Given the description of an element on the screen output the (x, y) to click on. 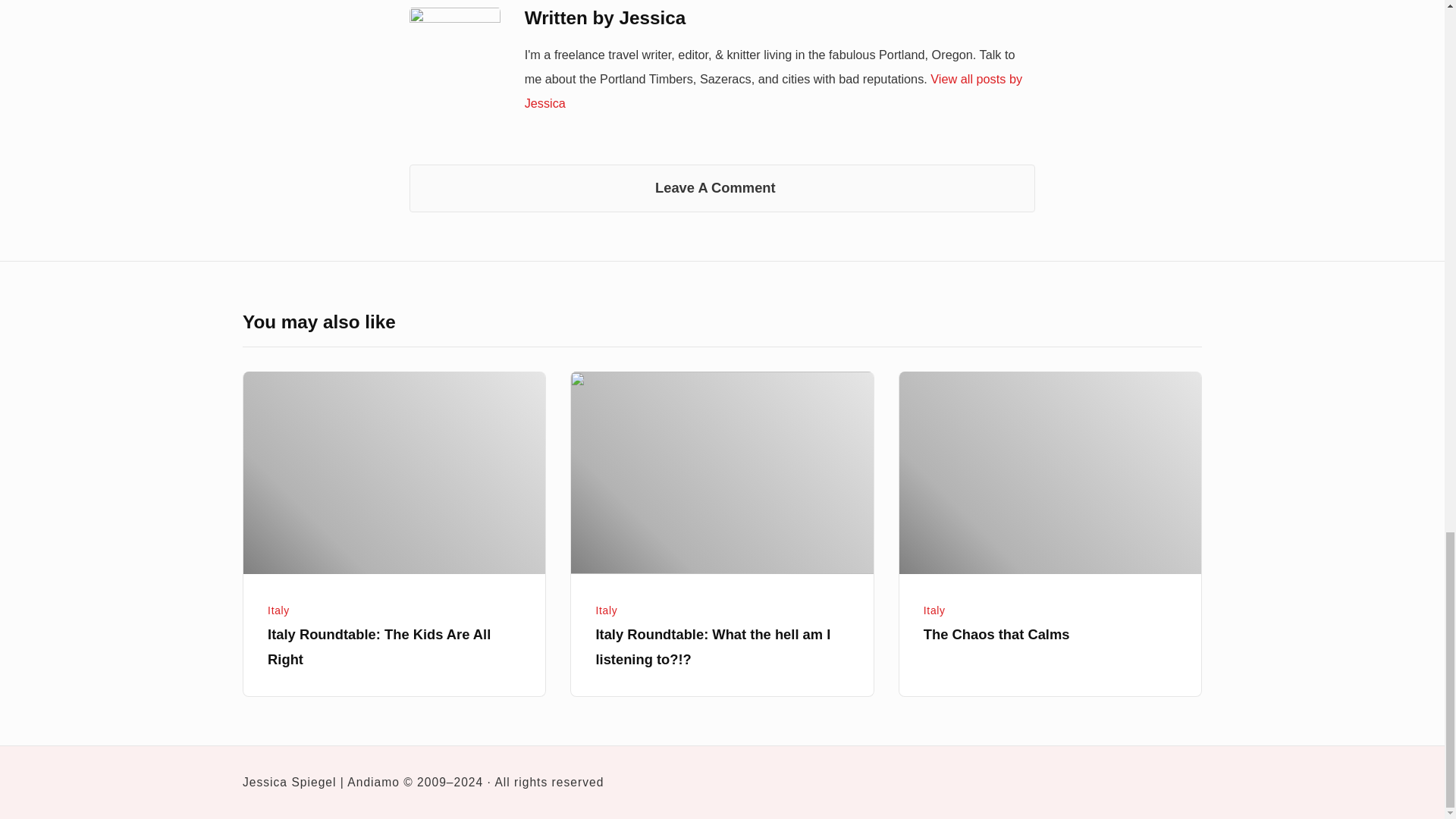
The Chaos that Calms (996, 634)
Italy Roundtable: The Kids Are All Right (394, 472)
View all posts by Jessica (773, 90)
Leave A Comment (722, 188)
Italy (933, 610)
Italy Roundtable: The Kids Are All Right (378, 646)
Italy (278, 610)
Italy Roundtable: What the hell am I listening to?!? (712, 646)
The Chaos that Calms (1050, 472)
Italy (606, 610)
